Given the description of an element on the screen output the (x, y) to click on. 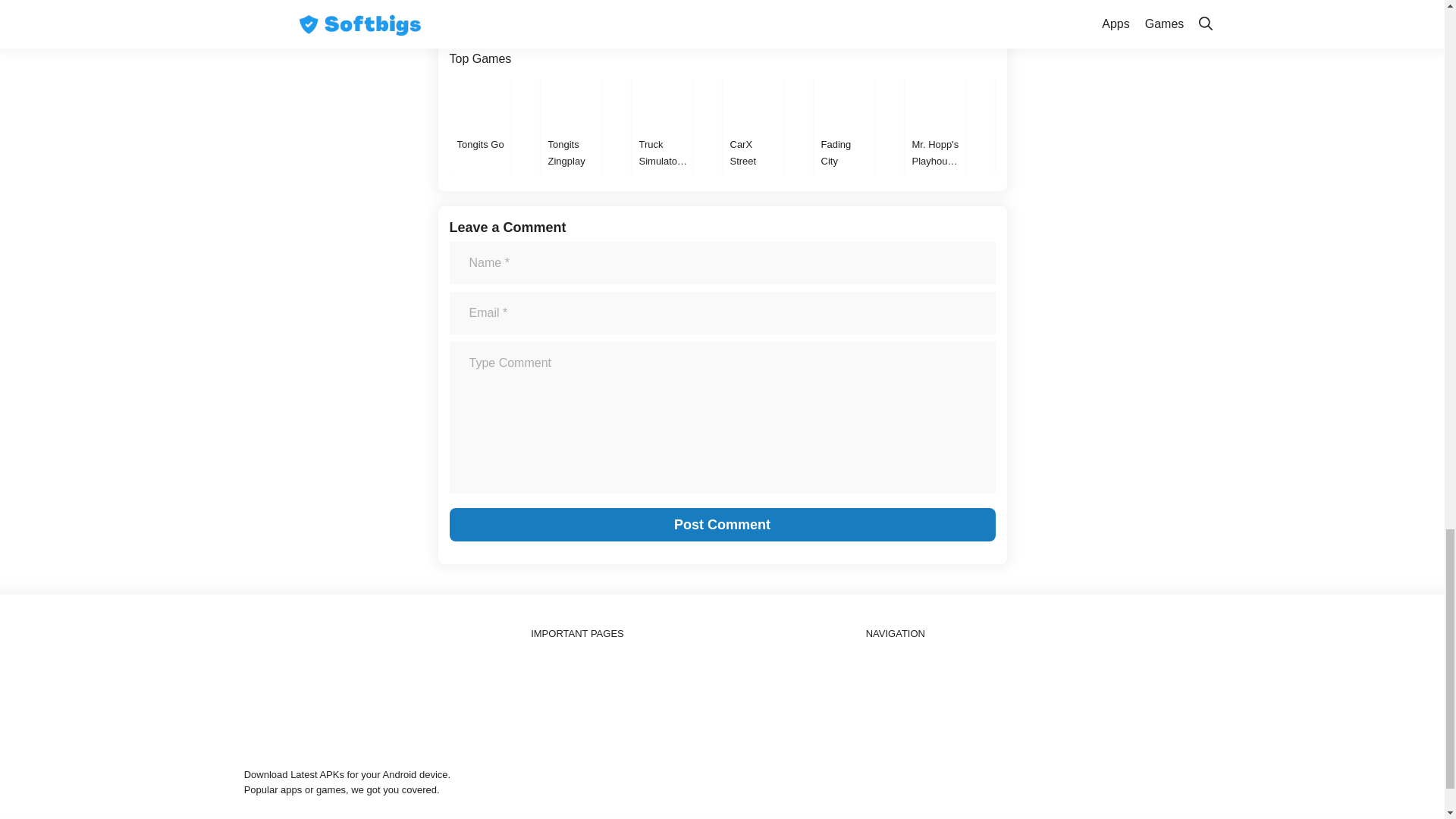
Post Comment (721, 524)
